Given the description of an element on the screen output the (x, y) to click on. 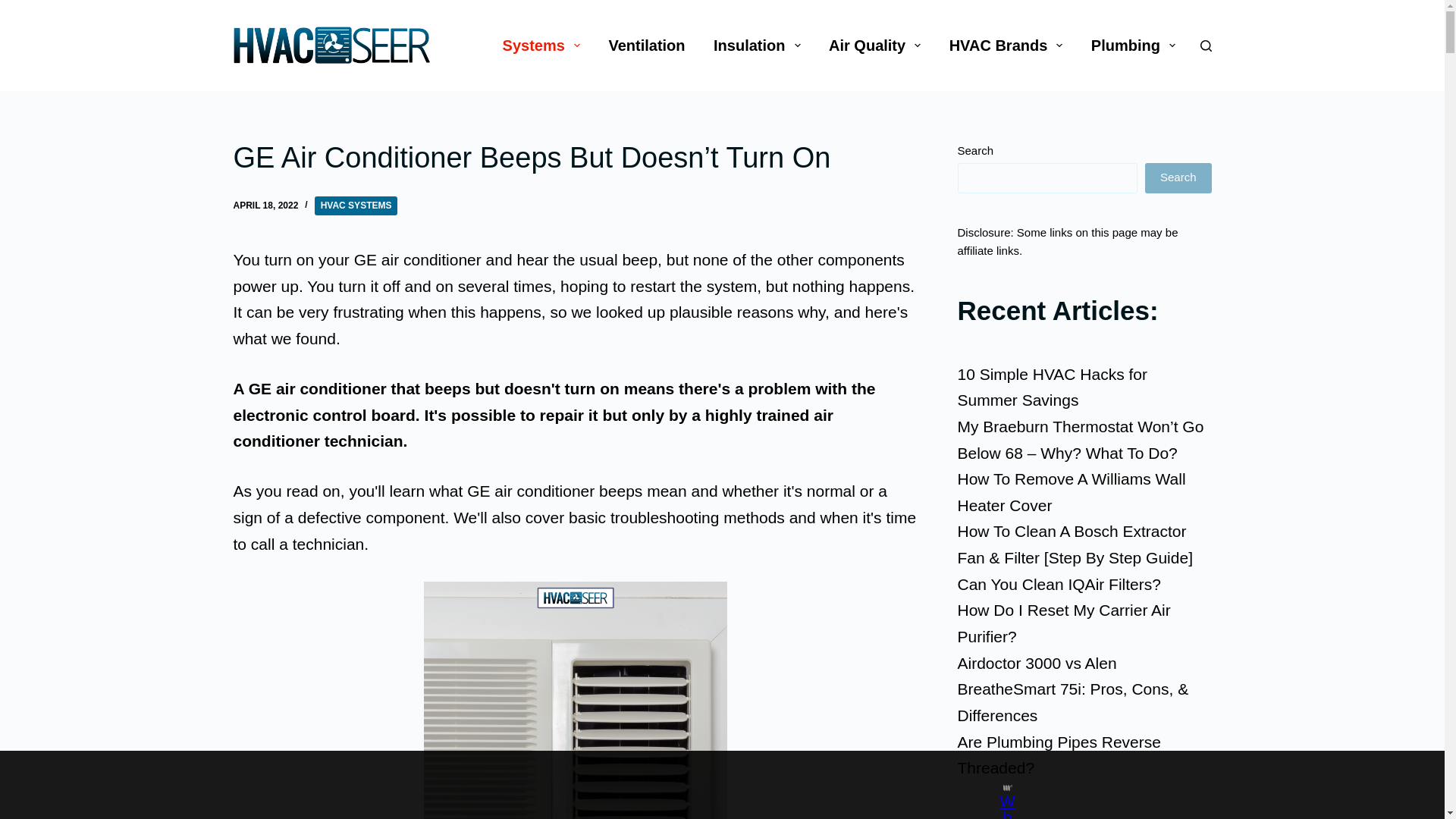
Skip to content (15, 7)
3rd party ad content (708, 785)
